Given the description of an element on the screen output the (x, y) to click on. 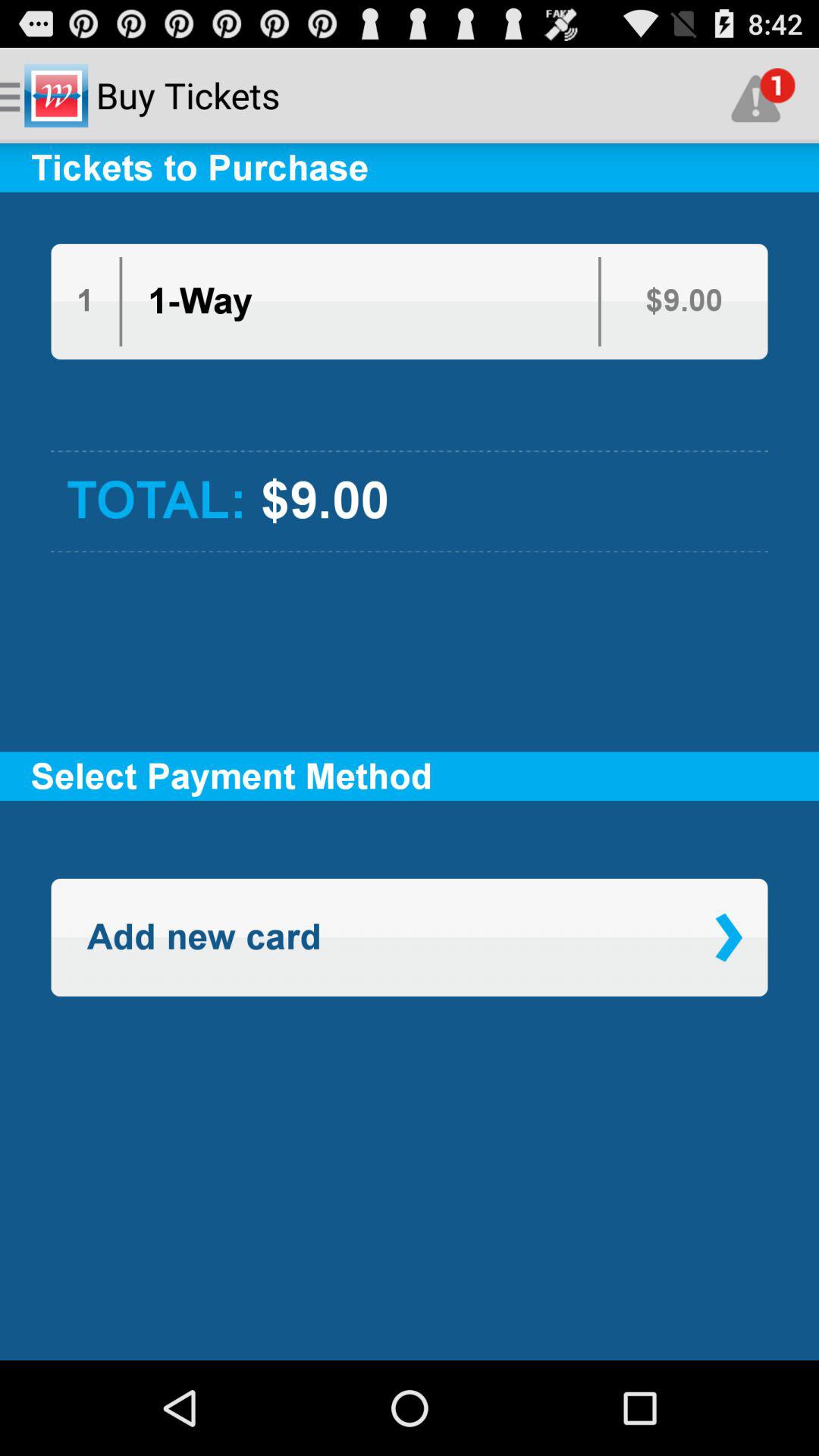
launch 1-way item (199, 301)
